Given the description of an element on the screen output the (x, y) to click on. 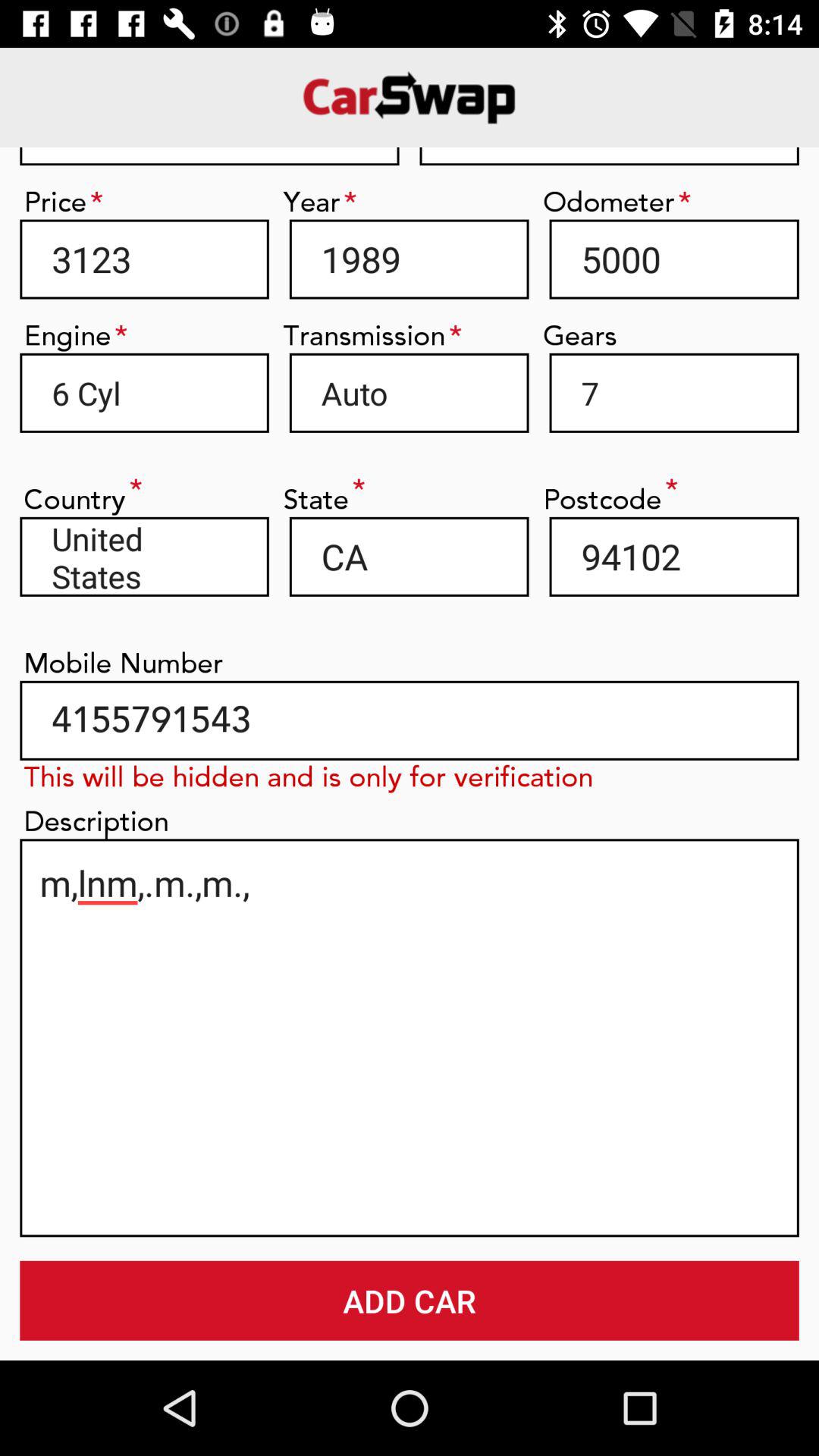
select item below the mobile number item (409, 720)
